Given the description of an element on the screen output the (x, y) to click on. 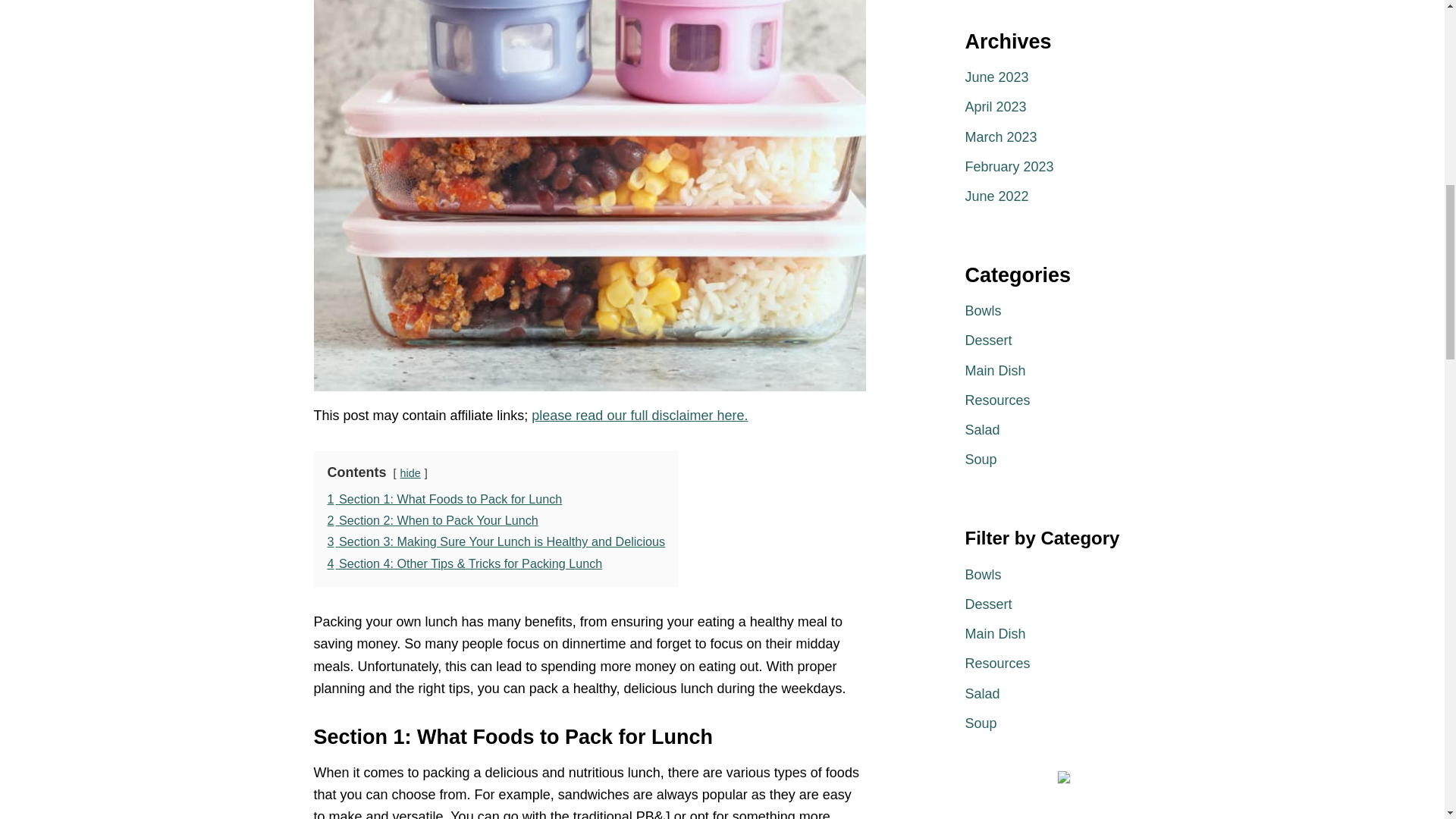
3 Section 3: Making Sure Your Lunch is Healthy and Delicious (496, 540)
1 Section 1: What Foods to Pack for Lunch (444, 499)
hide (410, 472)
2 Section 2: When to Pack Your Lunch (432, 520)
please read our full disclaimer here. (639, 415)
